Given the description of an element on the screen output the (x, y) to click on. 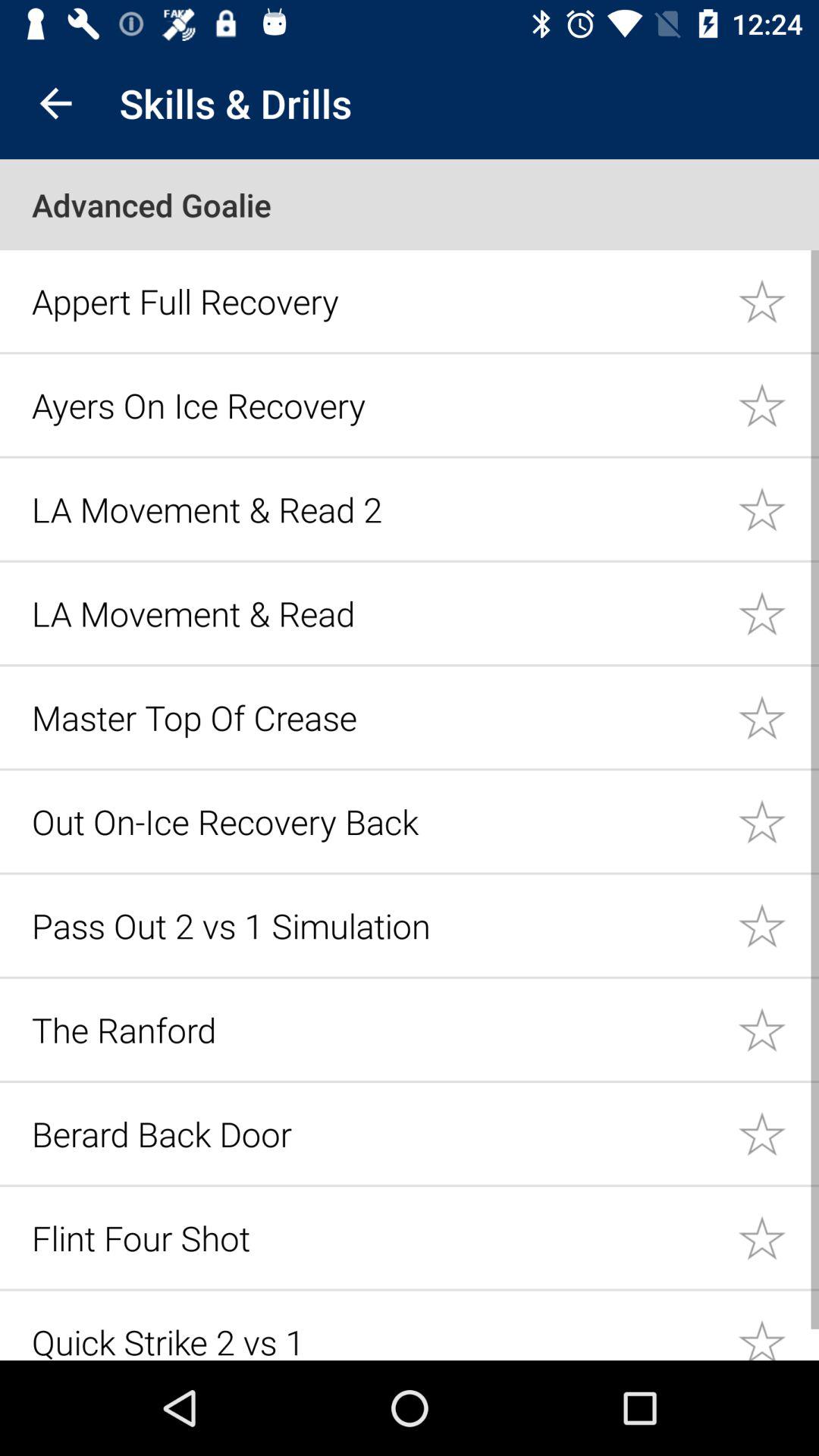
highlight the option (778, 404)
